Given the description of an element on the screen output the (x, y) to click on. 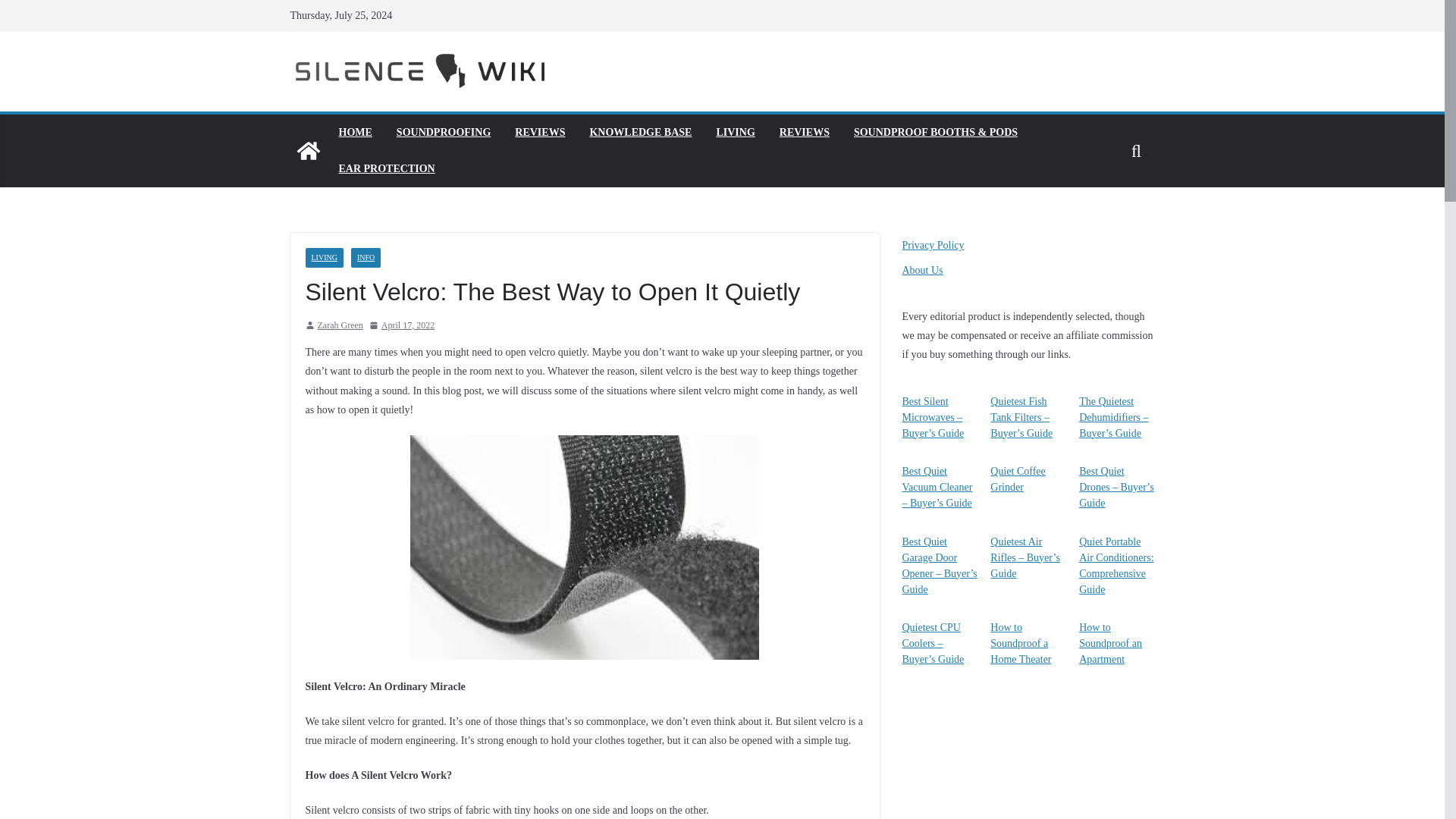
HOME (354, 132)
LIVING (323, 257)
April 17, 2022 (401, 325)
Quiet Coffee Grinder (1017, 479)
Zarah Green (339, 325)
Zarah Green (339, 325)
Silence Wiki (307, 150)
SOUNDPROOFING (443, 132)
REVIEWS (803, 132)
INFO (365, 257)
10:27 am (401, 325)
EAR PROTECTION (385, 168)
KNOWLEDGE BASE (640, 132)
REVIEWS (539, 132)
Privacy Policy (932, 244)
